Given the description of an element on the screen output the (x, y) to click on. 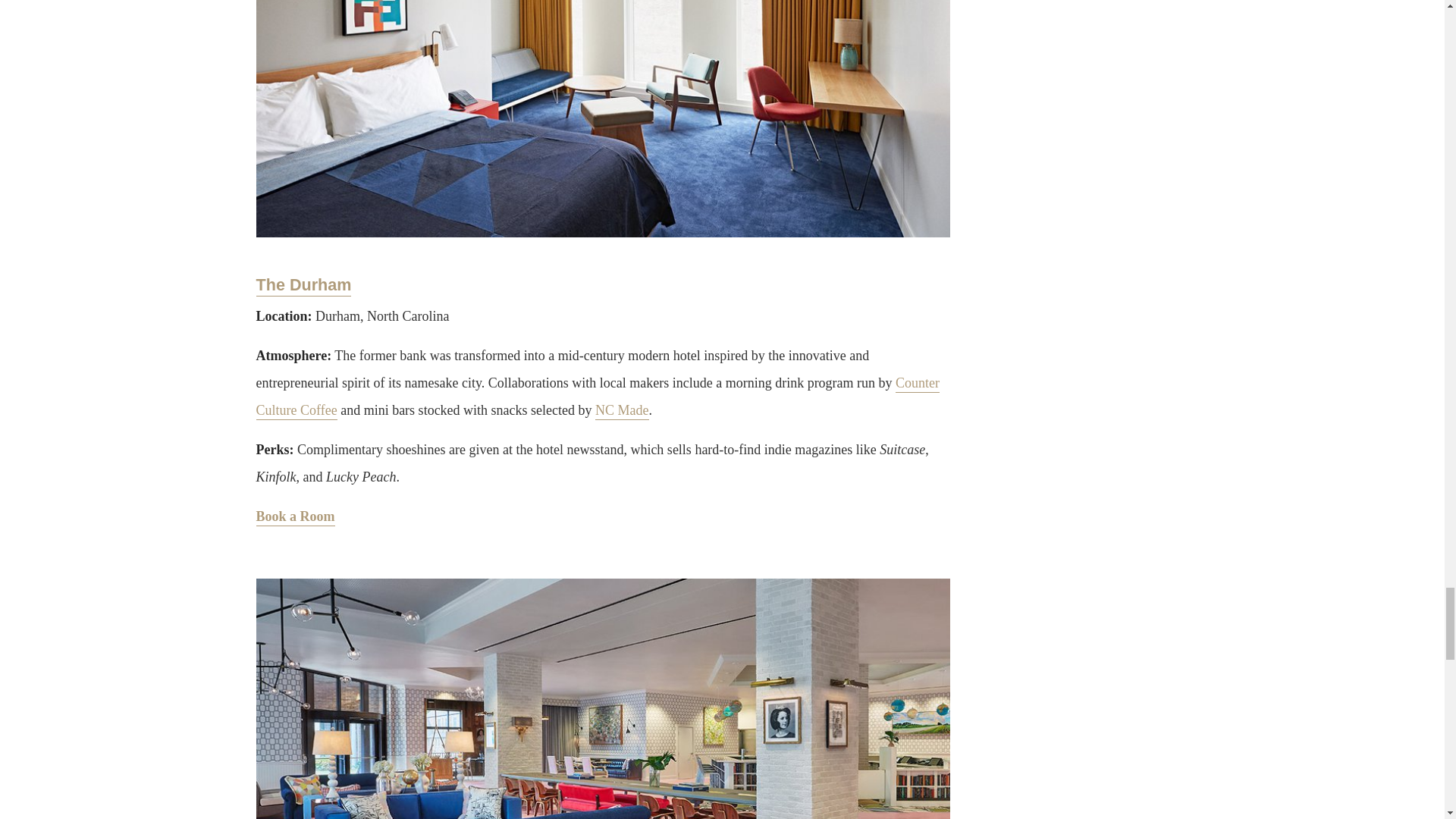
Counter Culture Coffee (598, 397)
The Durham (304, 285)
